Given the description of an element on the screen output the (x, y) to click on. 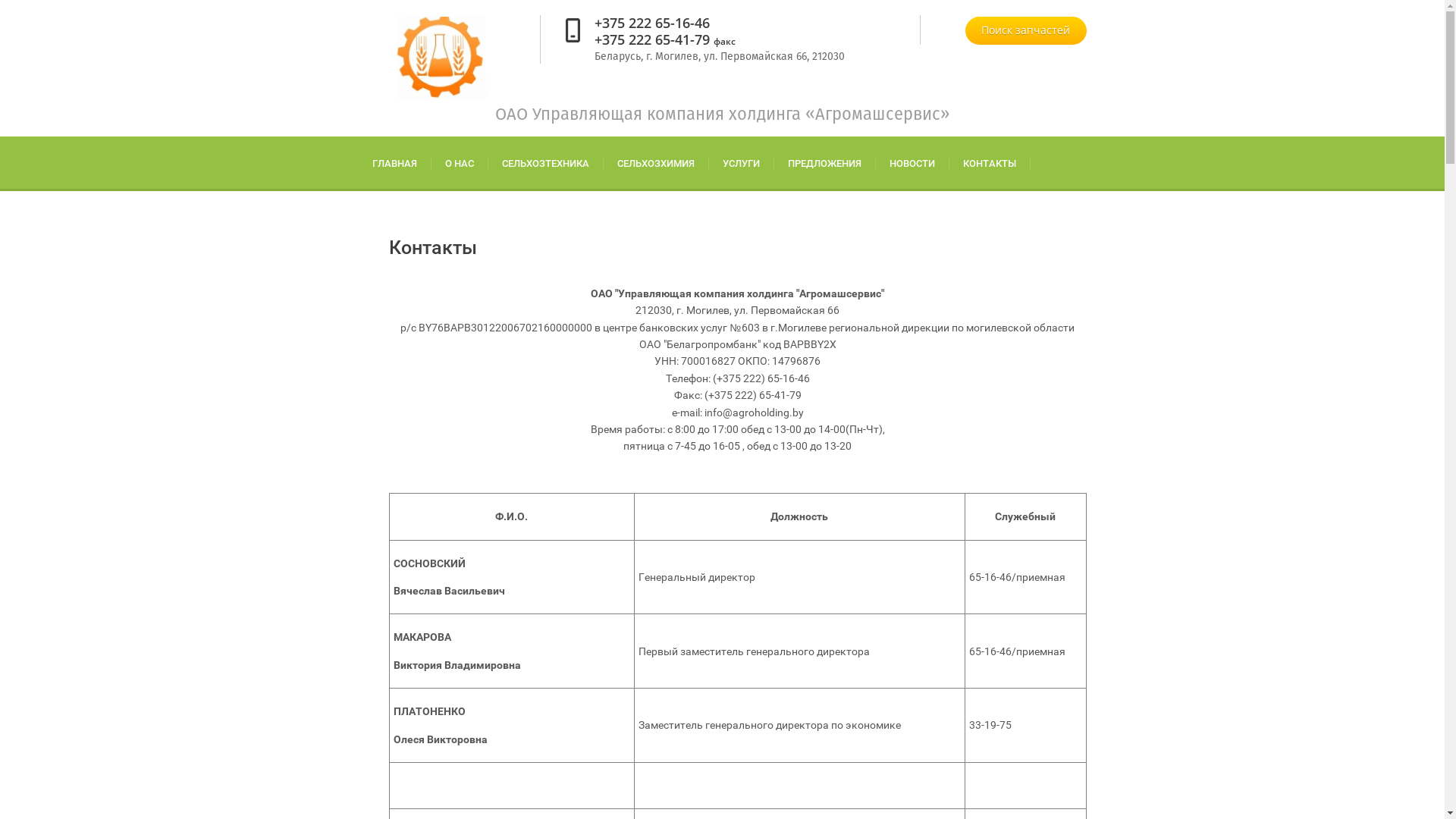
+375 222 65-16-46 Element type: text (651, 22)
